Given the description of an element on the screen output the (x, y) to click on. 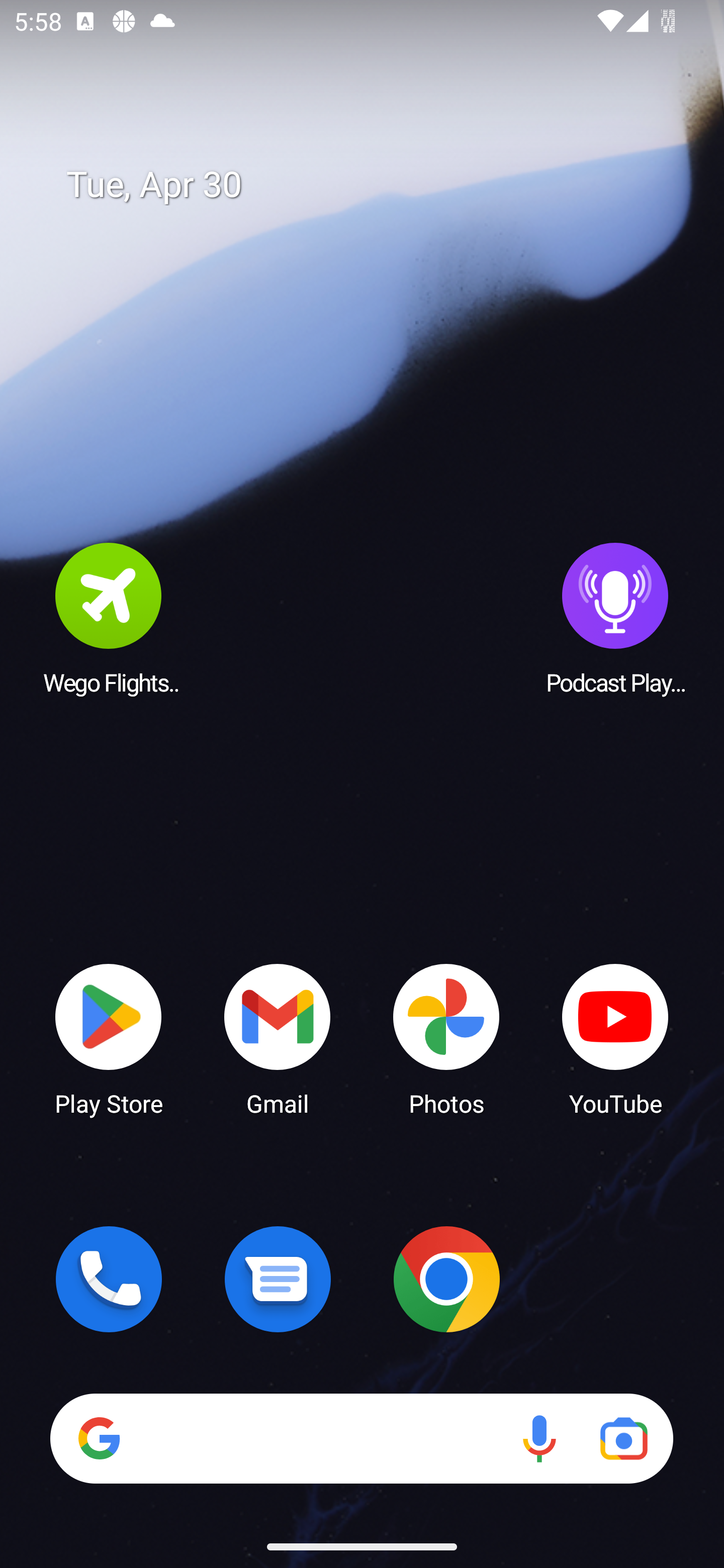
Tue, Apr 30 (375, 184)
Wego Flights & Hotels (108, 617)
Podcast Player (615, 617)
Play Store (108, 1038)
Gmail (277, 1038)
Photos (445, 1038)
YouTube (615, 1038)
Phone (108, 1279)
Messages (277, 1279)
Chrome (446, 1279)
Voice search (539, 1438)
Google Lens (623, 1438)
